Given the description of an element on the screen output the (x, y) to click on. 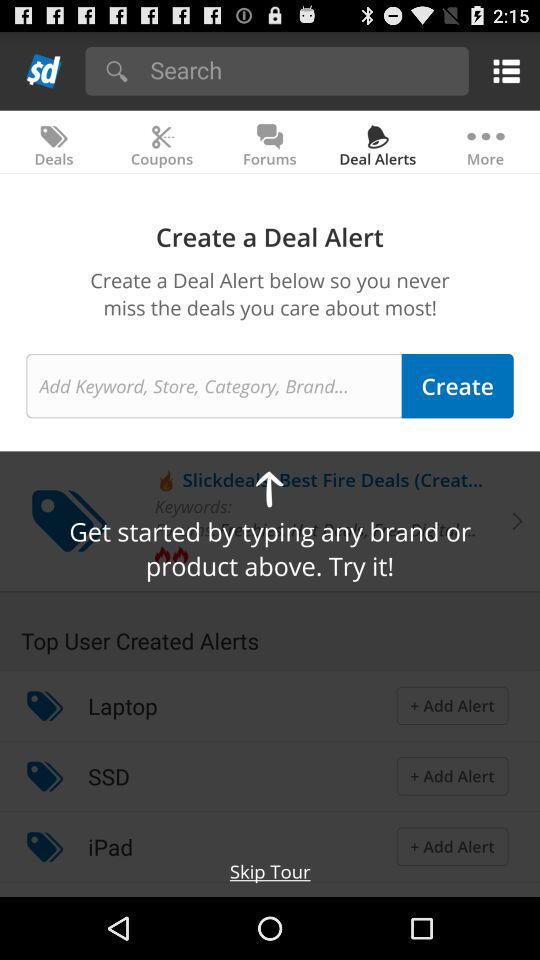
its a yellow flashing box (502, 70)
